Given the description of an element on the screen output the (x, y) to click on. 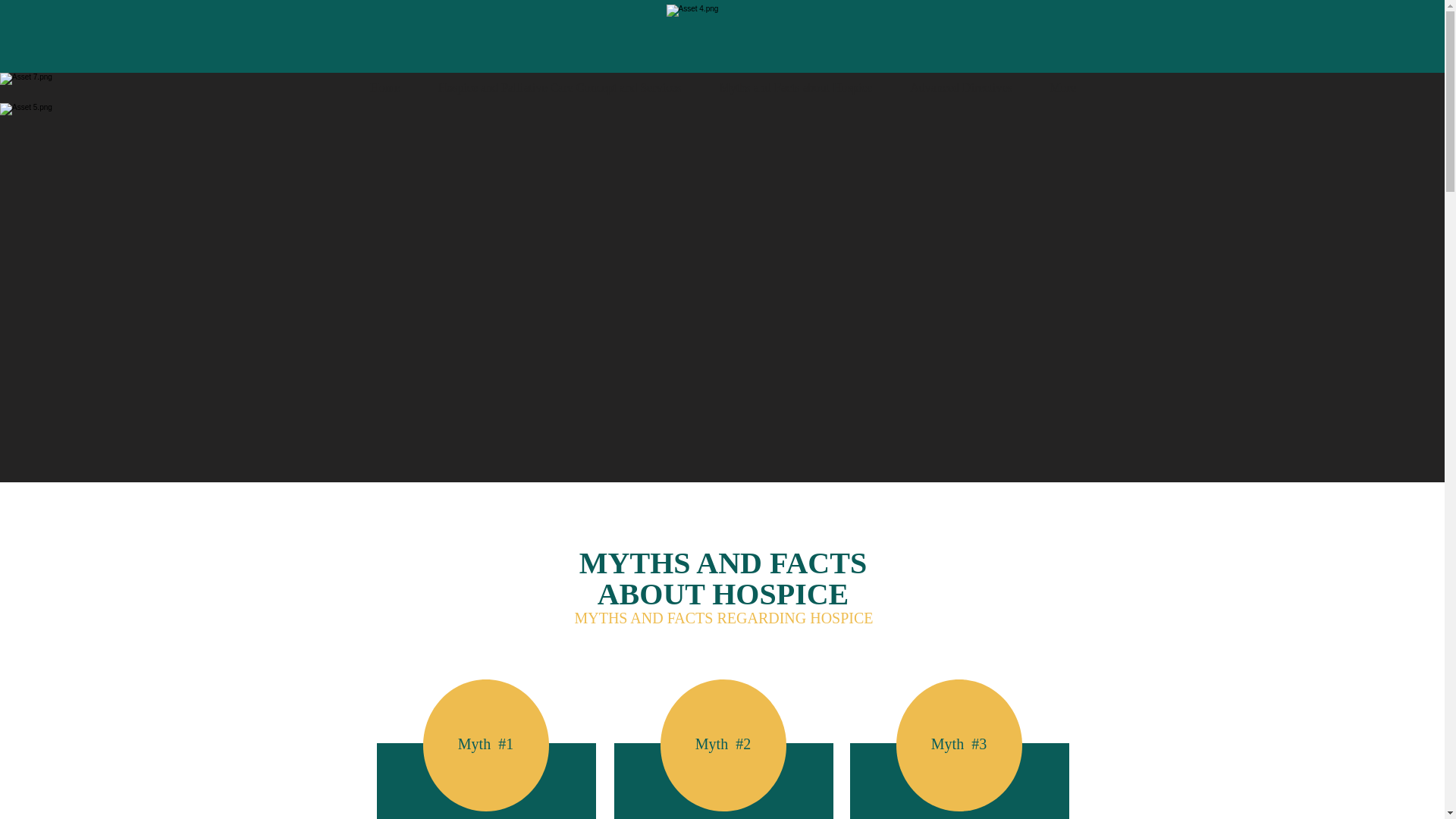
Home (385, 87)
Myths and Facts about Hospice (795, 87)
Advanced Directives (960, 87)
Hospice and Palliative Care Concept and Services (559, 87)
